Given the description of an element on the screen output the (x, y) to click on. 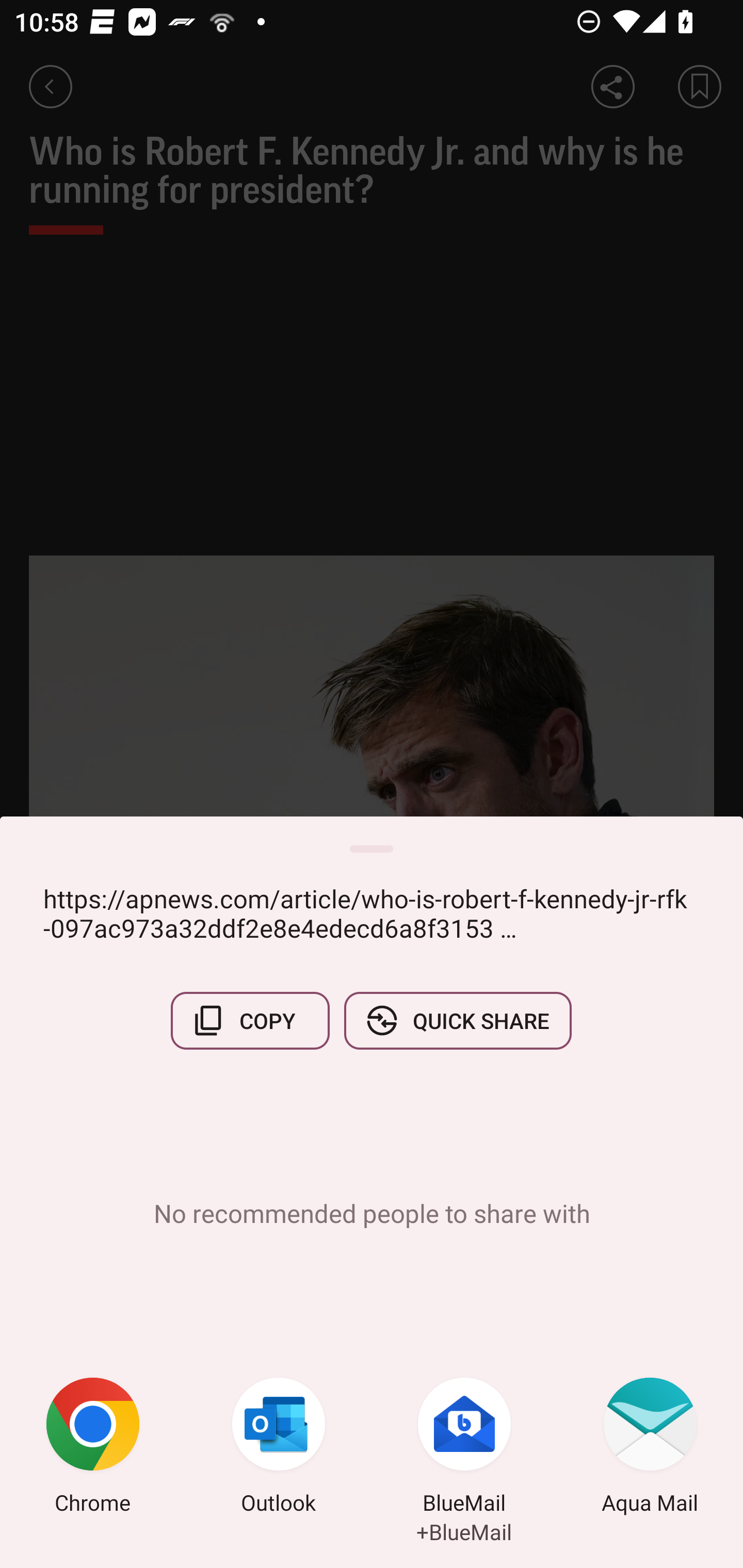
COPY (249, 1020)
QUICK SHARE (457, 1020)
Chrome (92, 1448)
Outlook (278, 1448)
BlueMail +BlueMail (464, 1448)
Aqua Mail (650, 1448)
